Given the description of an element on the screen output the (x, y) to click on. 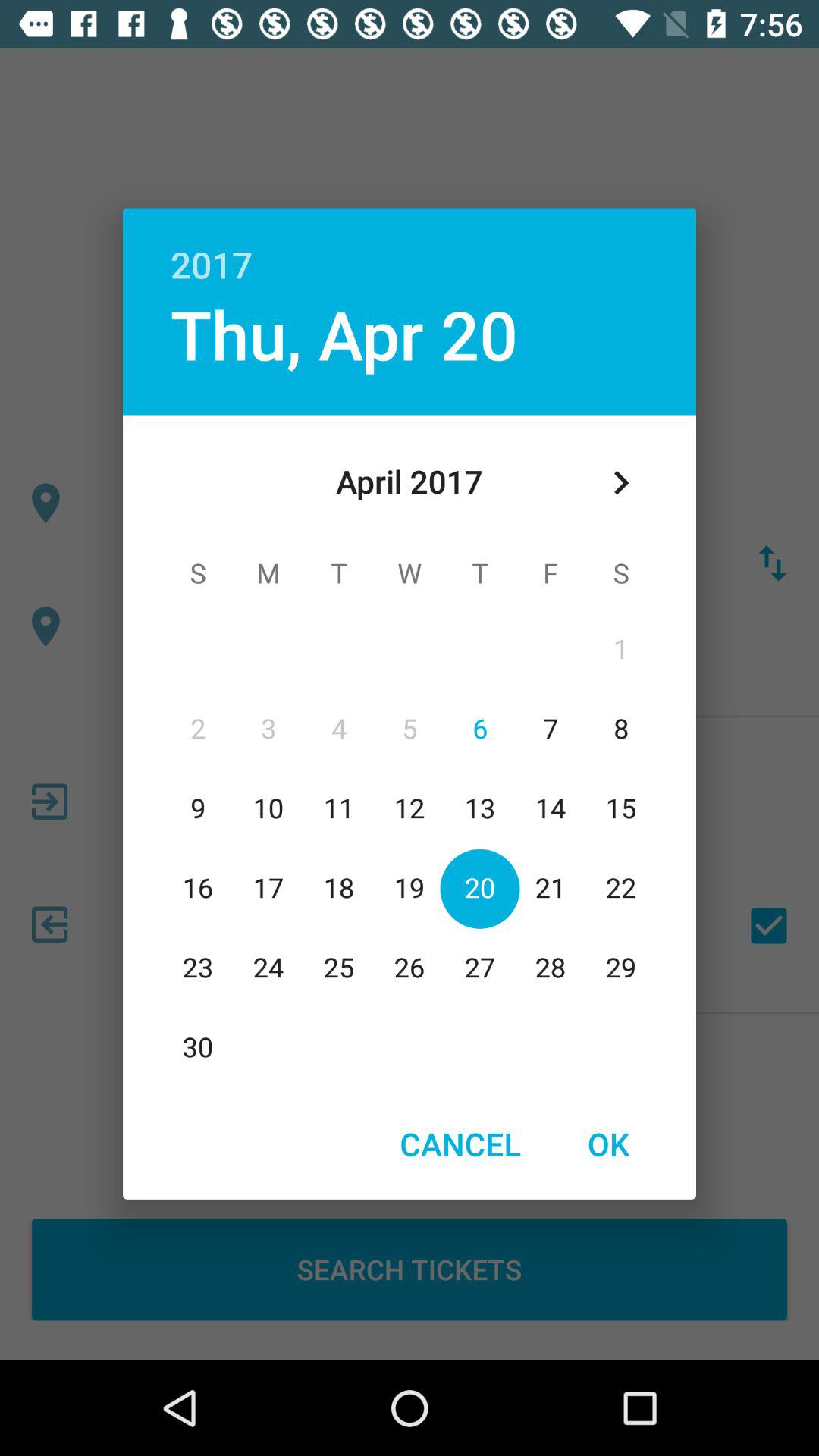
swipe to ok button (608, 1143)
